Given the description of an element on the screen output the (x, y) to click on. 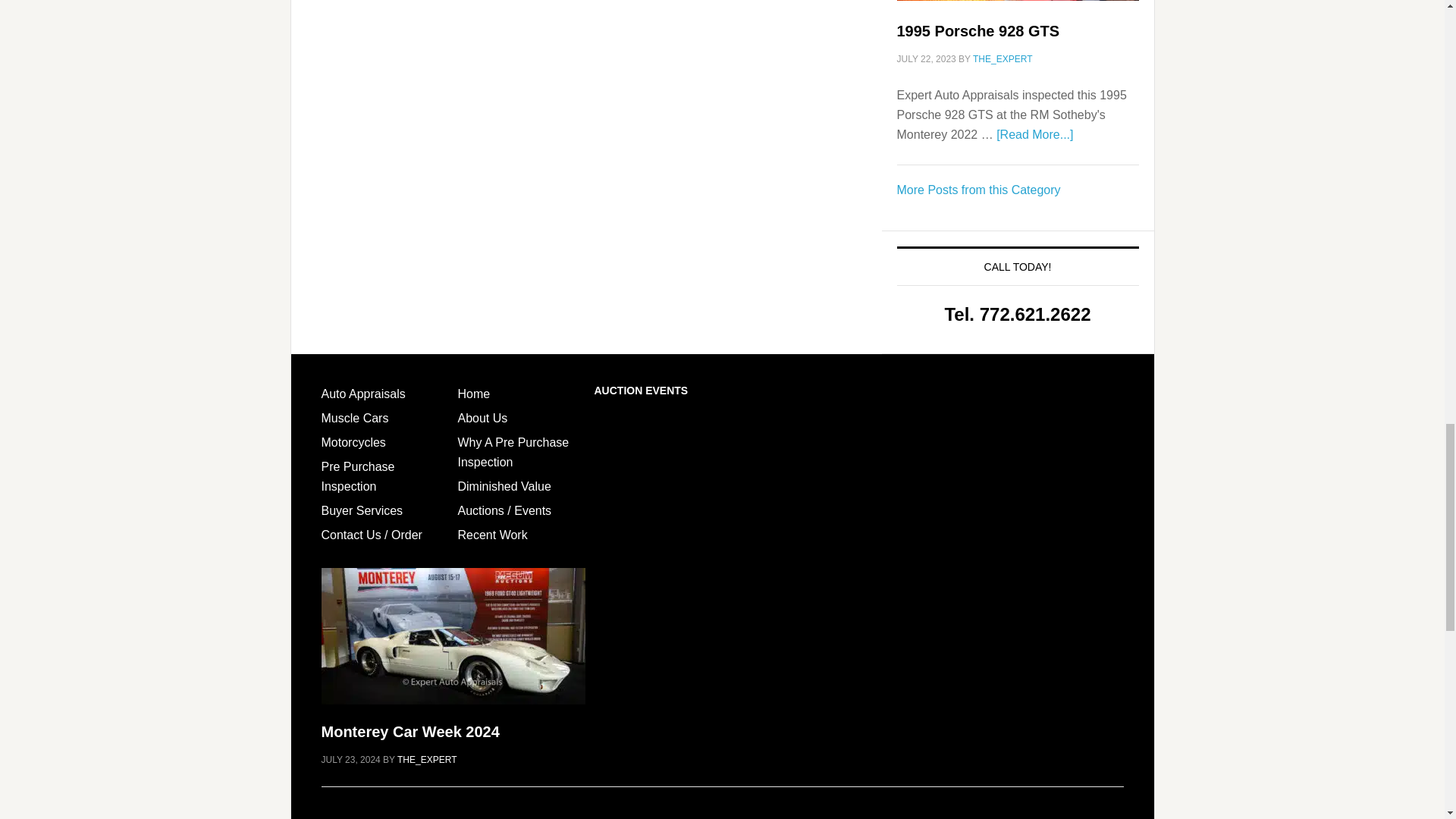
More Posts from this Category (977, 189)
Auto Appraisals (363, 393)
1995 Porsche 928 GTS (977, 30)
Our Recent Work (977, 189)
Ebay Buyer Services (362, 510)
